Given the description of an element on the screen output the (x, y) to click on. 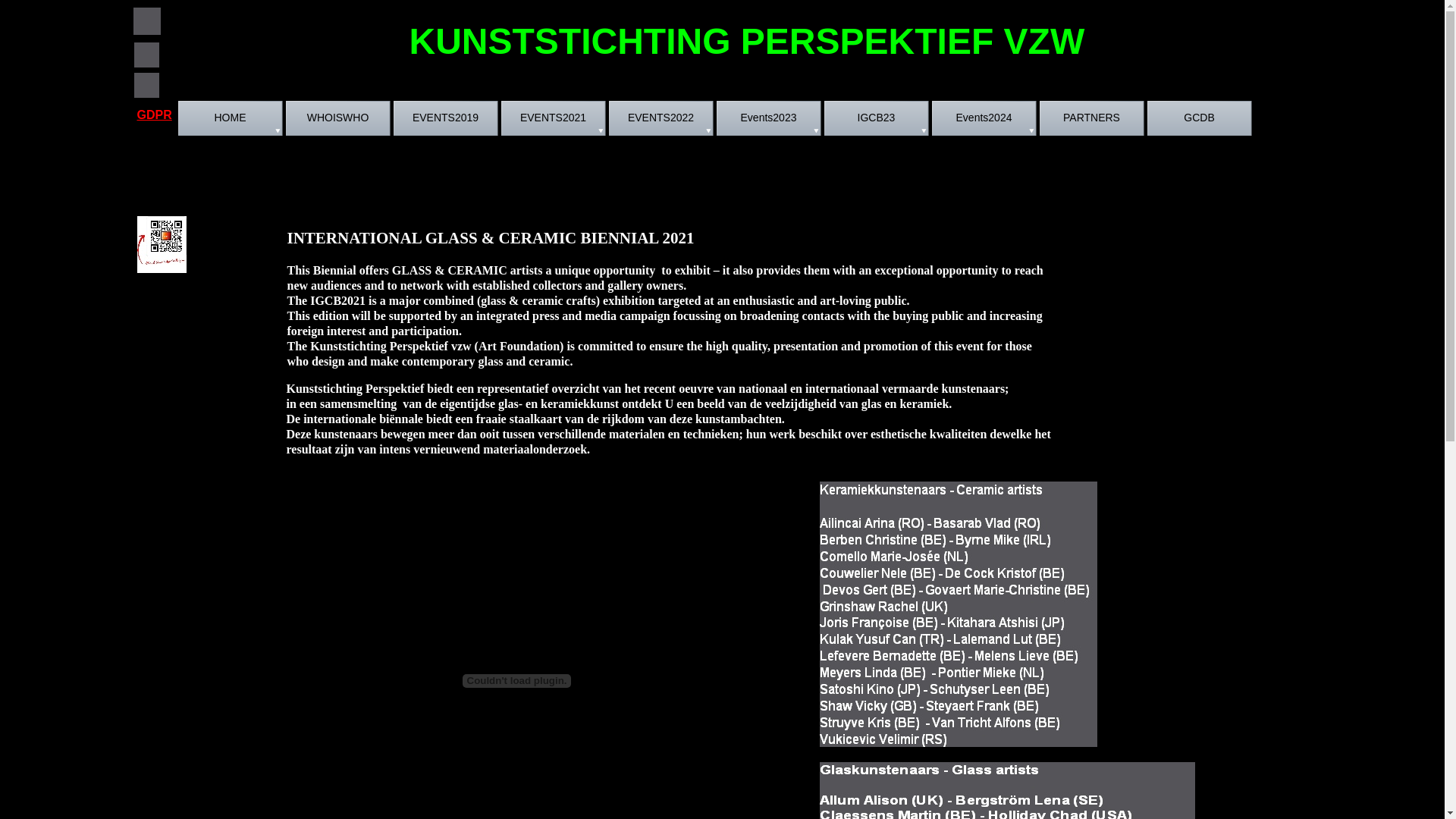
EVENTS2019 Element type: text (446, 119)
Events2023 Element type: text (769, 119)
PARTNERS Element type: text (1092, 119)
GCDB Element type: text (1200, 119)
GDPR Element type: text (153, 114)
EVENTS2022 Element type: text (661, 119)
HOME Element type: text (231, 119)
IGCB23 Element type: text (877, 119)
EVENTS2021 Element type: text (554, 119)
WHOISWHO Element type: text (338, 119)
Events2024 Element type: text (984, 119)
